Given the description of an element on the screen output the (x, y) to click on. 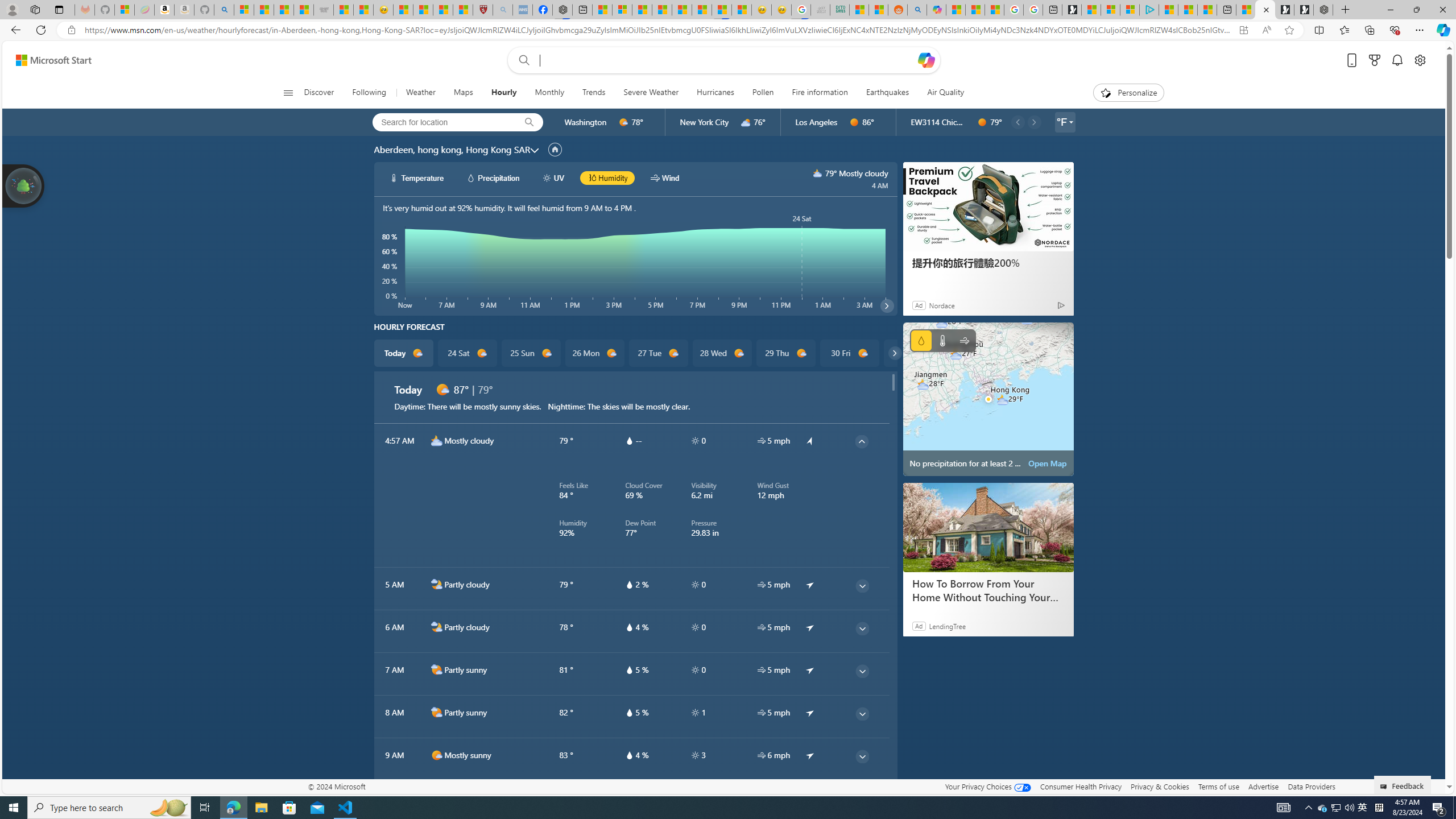
Today d1000 (403, 352)
hourlyTable/drop (628, 755)
Temperature (942, 340)
hourlyTable/uv (694, 755)
